Given the description of an element on the screen output the (x, y) to click on. 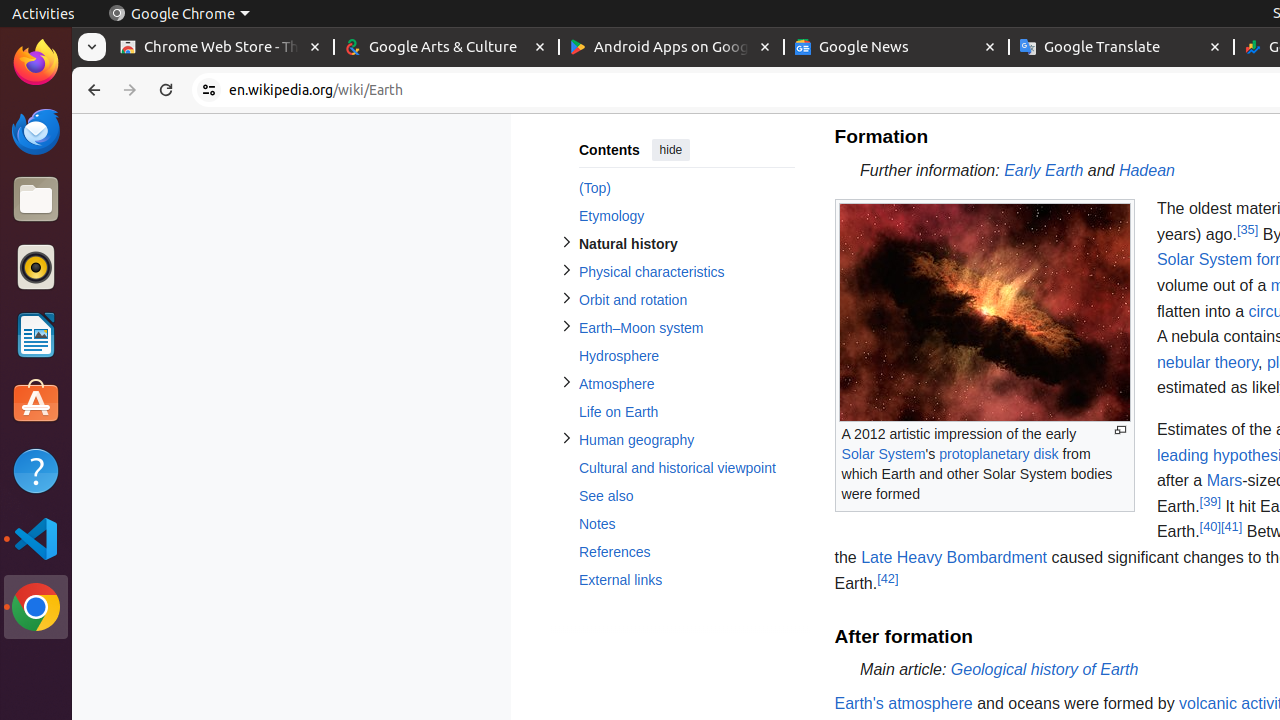
Google Arts & Culture - Memory usage - 64.0 MB Element type: page-tab (446, 47)
Atmosphere Element type: link (686, 384)
Hadean Element type: link (1146, 170)
Natural history Element type: link (686, 244)
Firefox Web Browser Element type: push-button (36, 63)
